Given the description of an element on the screen output the (x, y) to click on. 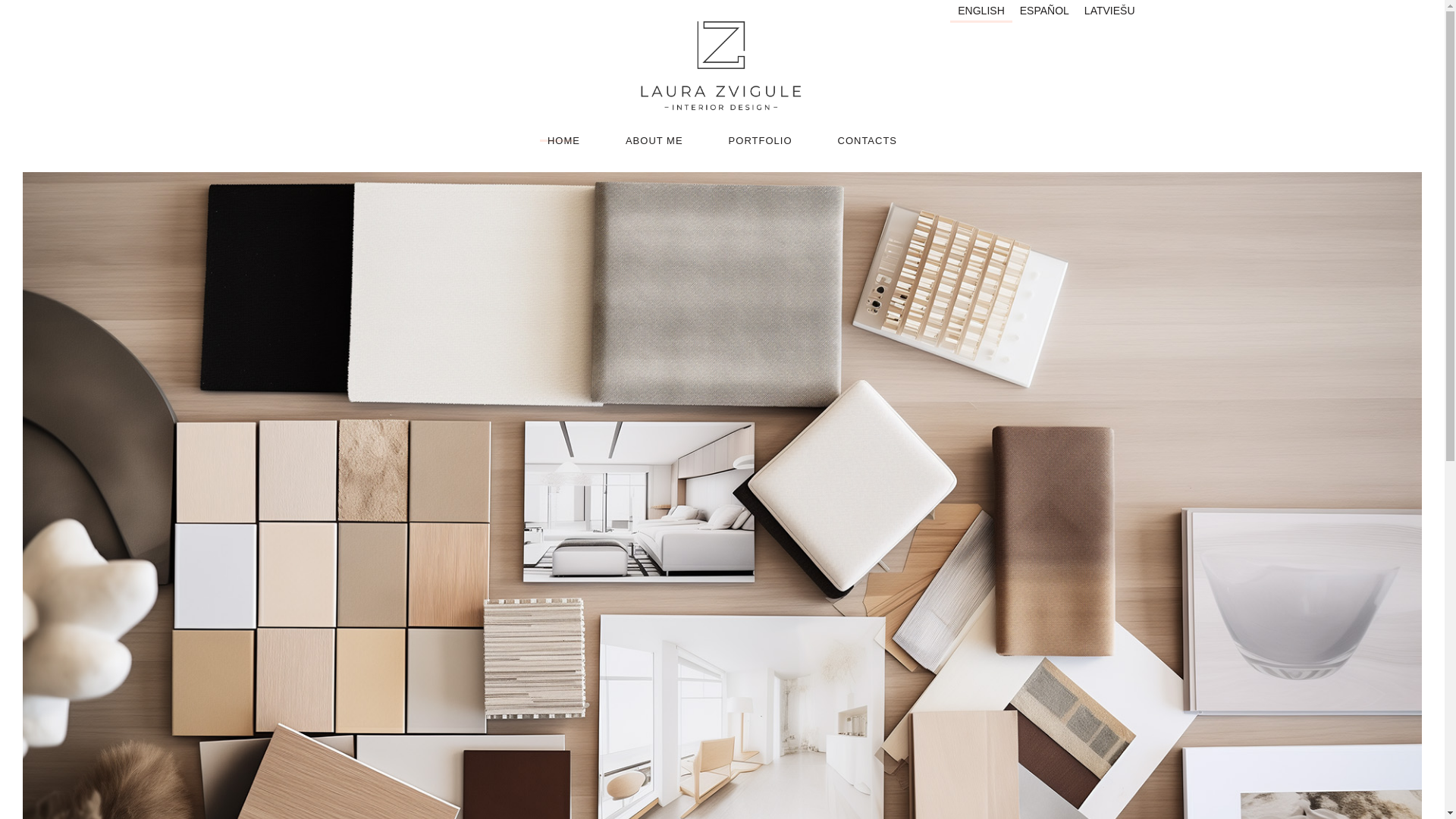
PORTFOLIO (760, 140)
HOME (563, 140)
ABOUT ME (654, 140)
CONTACTS (866, 140)
ENGLISH (980, 10)
